Given the description of an element on the screen output the (x, y) to click on. 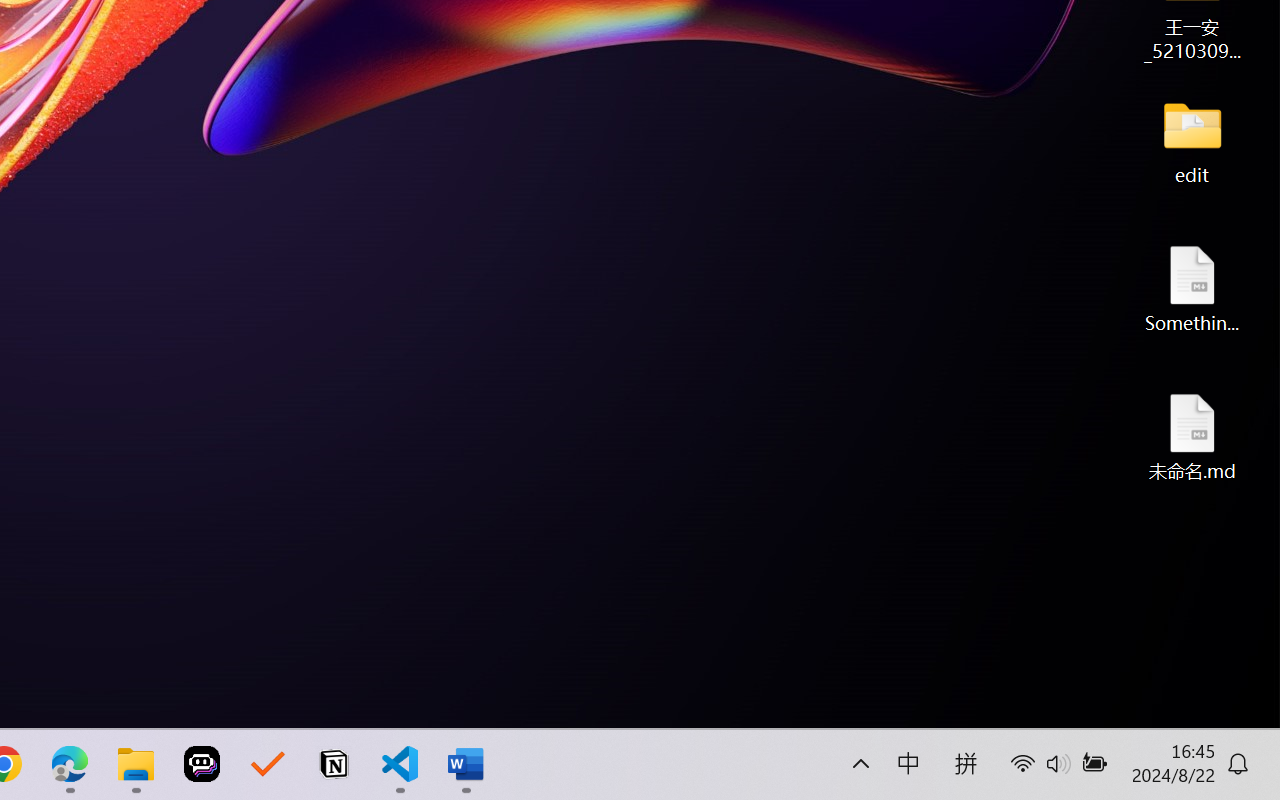
edit (1192, 140)
Something.md (1192, 288)
